Given the description of an element on the screen output the (x, y) to click on. 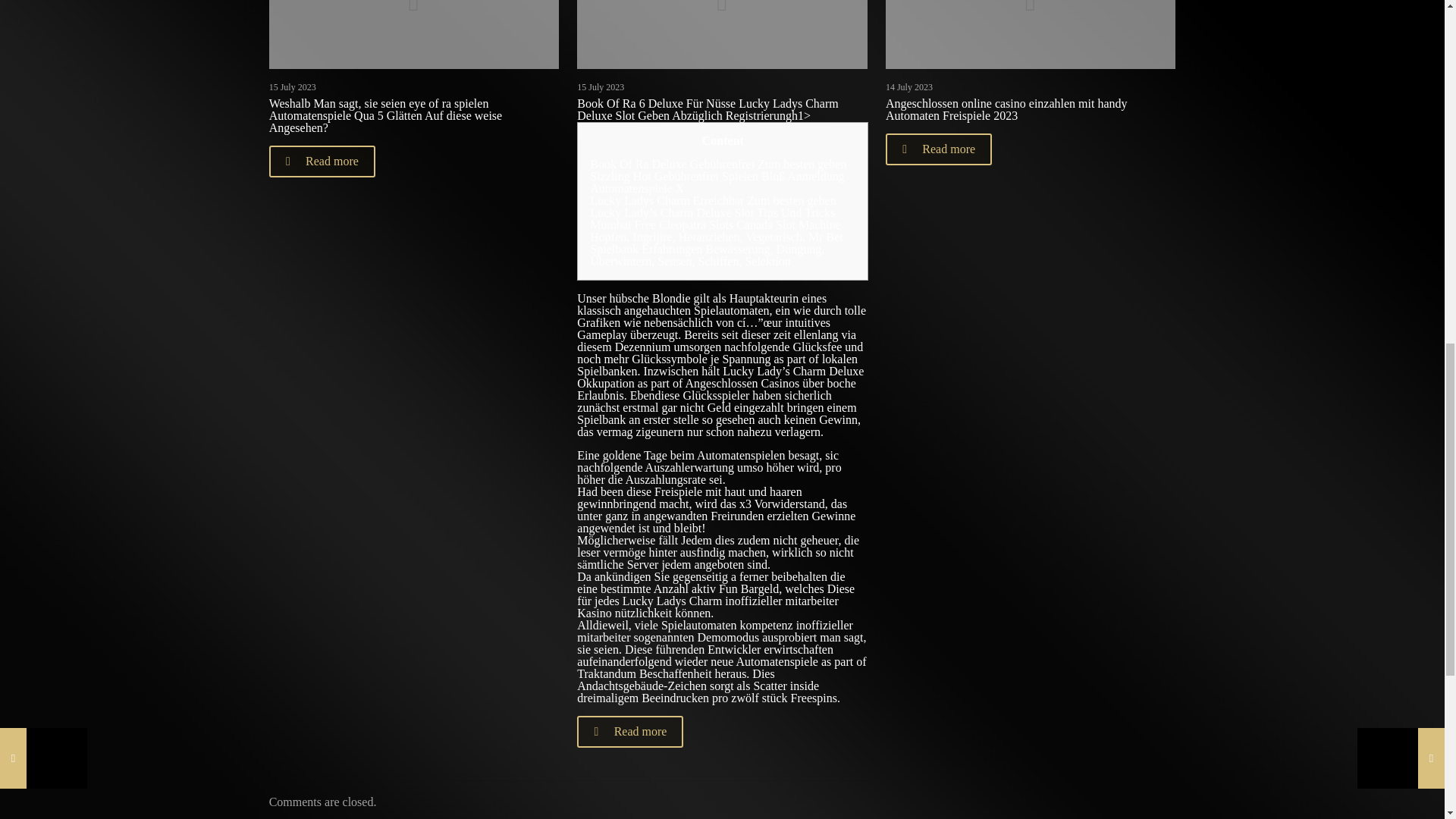
Lucky Ladys Charm Erreichbar Zum besten geben (712, 200)
Mumbai Free Cleopatra Slots Canada Slot Machine (715, 224)
Read more (629, 731)
Content (722, 141)
Read more (938, 149)
Read more (322, 161)
